Given the description of an element on the screen output the (x, y) to click on. 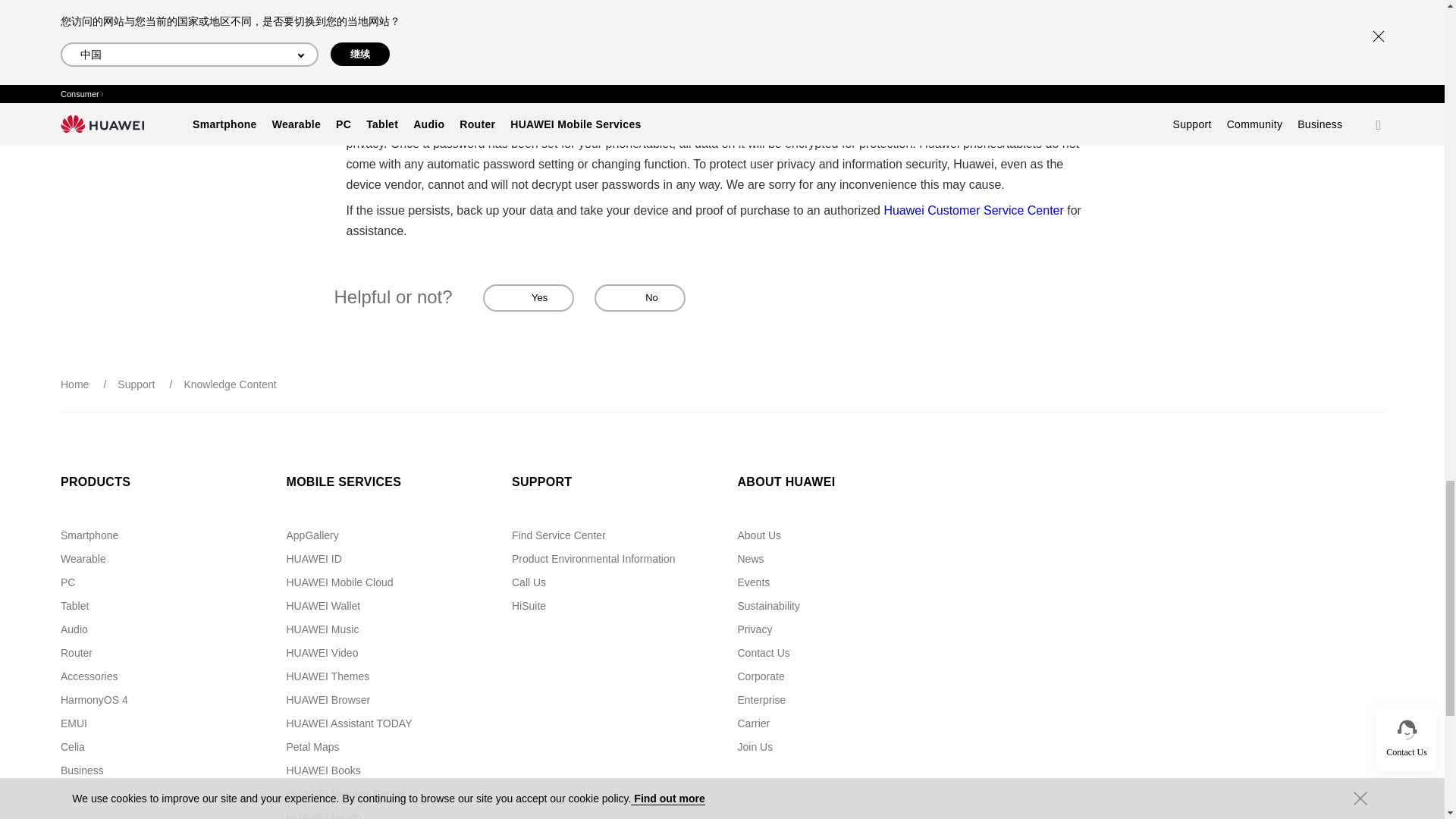
Huawei Customer Service Center (972, 210)
